Given the description of an element on the screen output the (x, y) to click on. 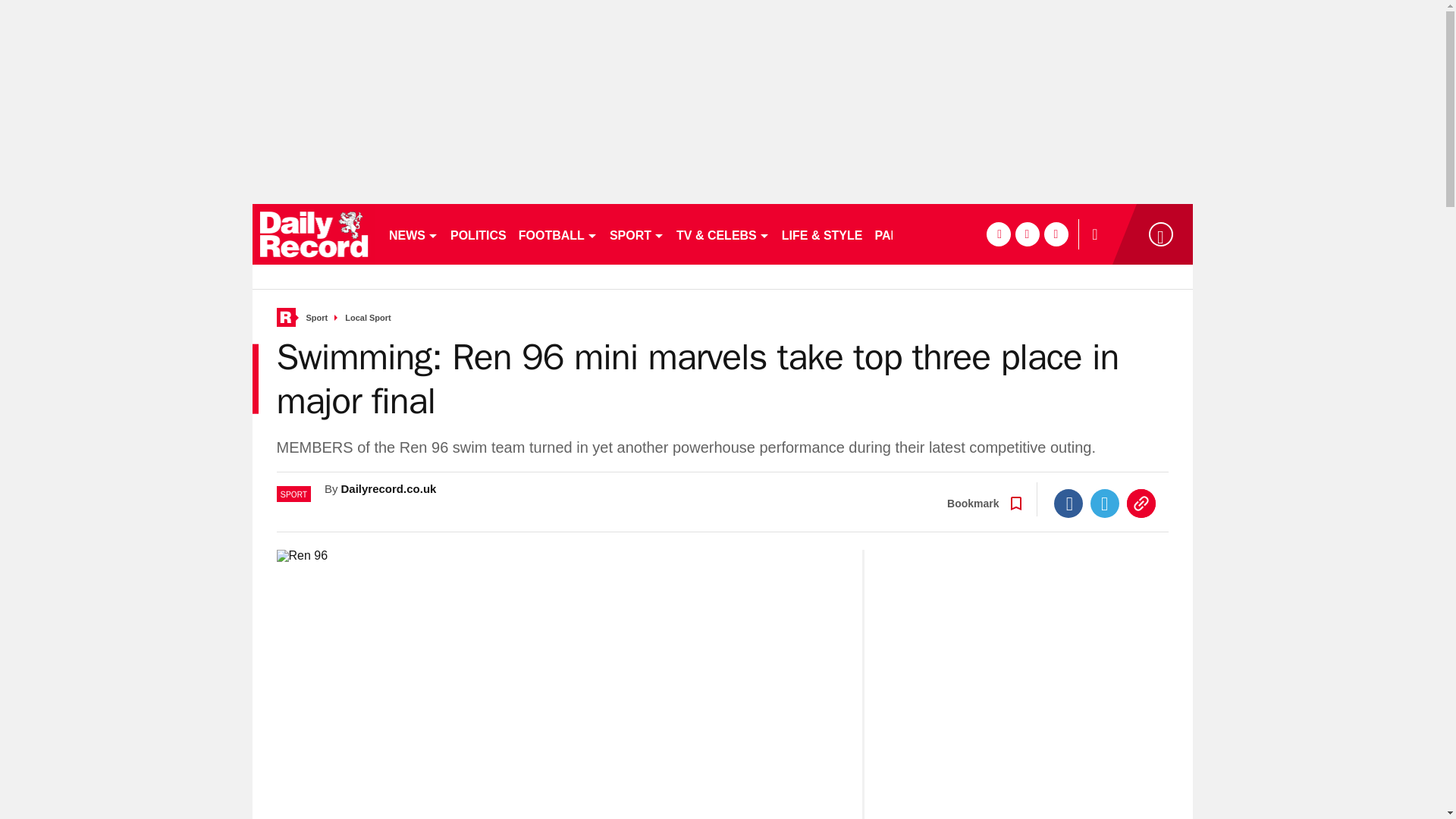
Facebook (1068, 502)
instagram (1055, 233)
SPORT (636, 233)
dailyrecord (313, 233)
Twitter (1104, 502)
twitter (1026, 233)
POLITICS (478, 233)
facebook (997, 233)
FOOTBALL (558, 233)
NEWS (413, 233)
